Given the description of an element on the screen output the (x, y) to click on. 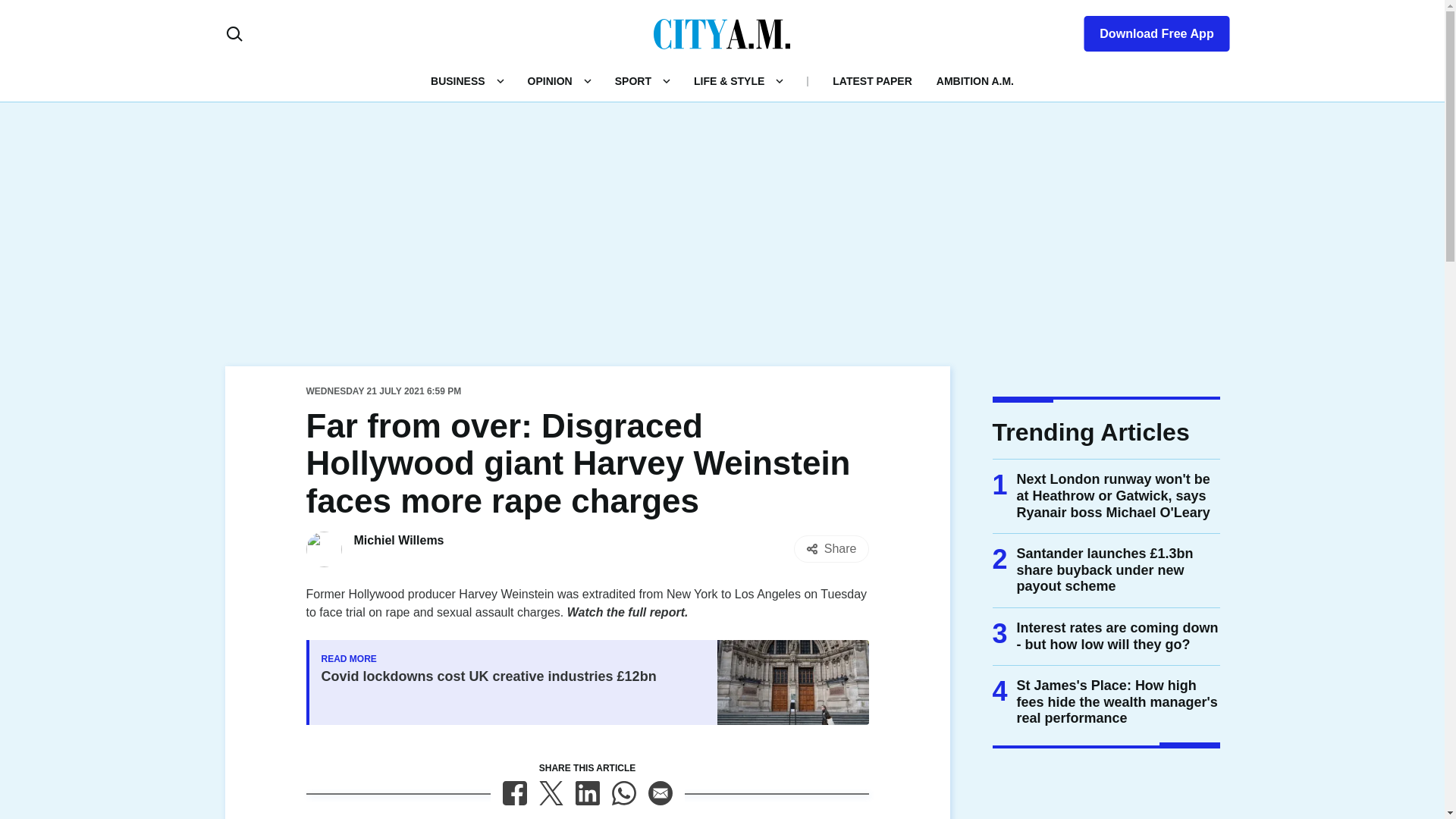
CityAM (721, 33)
LinkedIn (586, 793)
X (550, 793)
BUSINESS (457, 80)
Email (659, 793)
SPORT (632, 80)
OPINION (549, 80)
Facebook (513, 793)
Download Free App (1146, 30)
WhatsApp (622, 793)
